Given the description of an element on the screen output the (x, y) to click on. 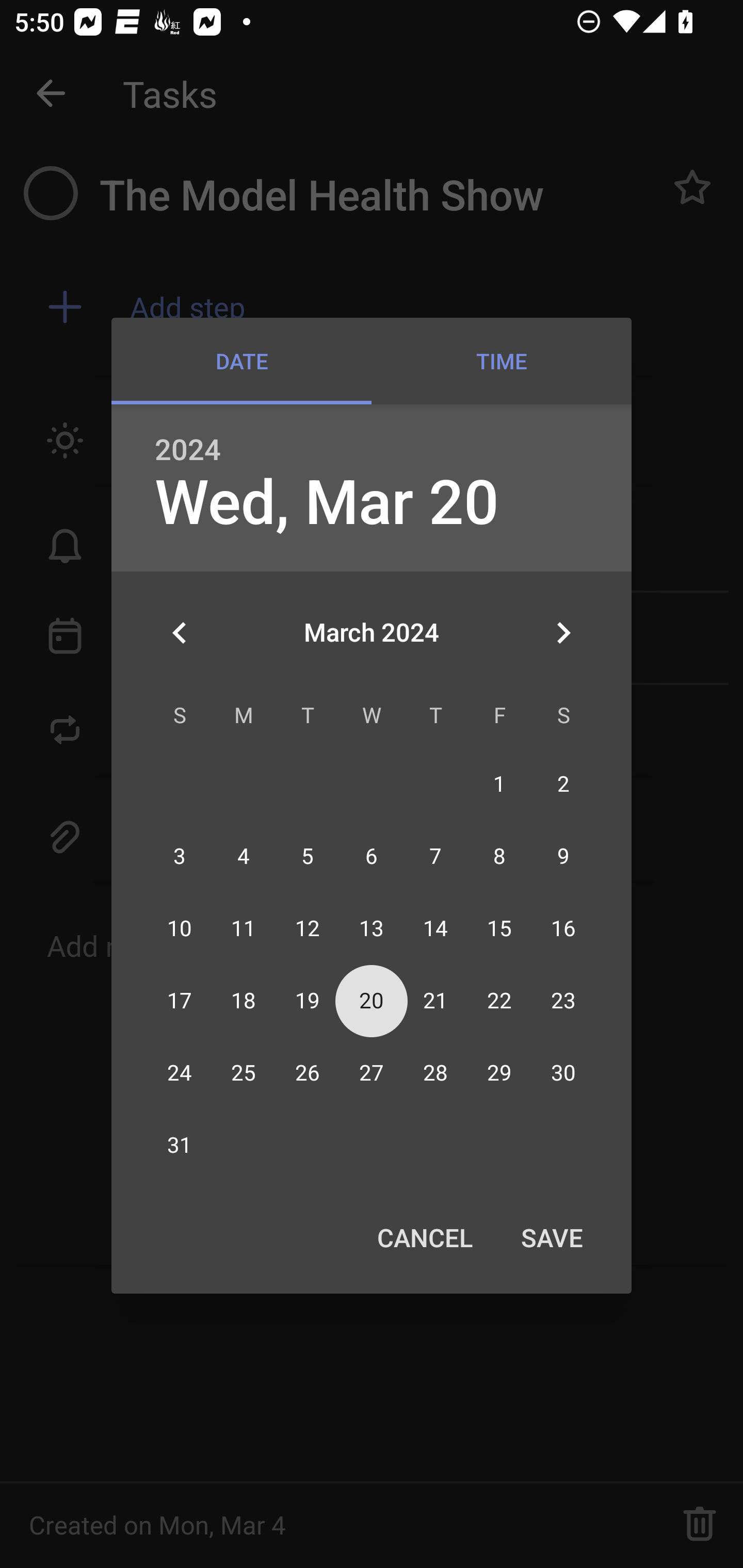
Date DATE (241, 361)
Time TIME (501, 361)
2024 (187, 449)
Wed, Mar 20 (326, 503)
Previous month (178, 632)
Next month (563, 632)
1 01 March 2024 (499, 783)
2 02 March 2024 (563, 783)
3 03 March 2024 (179, 856)
4 04 March 2024 (243, 856)
5 05 March 2024 (307, 856)
6 06 March 2024 (371, 856)
7 07 March 2024 (435, 856)
8 08 March 2024 (499, 856)
9 09 March 2024 (563, 856)
10 10 March 2024 (179, 928)
11 11 March 2024 (243, 928)
12 12 March 2024 (307, 928)
13 13 March 2024 (371, 928)
14 14 March 2024 (435, 928)
15 15 March 2024 (499, 928)
16 16 March 2024 (563, 928)
17 17 March 2024 (179, 1001)
18 18 March 2024 (243, 1001)
19 19 March 2024 (307, 1001)
20 20 March 2024 (371, 1001)
21 21 March 2024 (435, 1001)
22 22 March 2024 (499, 1001)
23 23 March 2024 (563, 1001)
24 24 March 2024 (179, 1074)
25 25 March 2024 (243, 1074)
26 26 March 2024 (307, 1074)
27 27 March 2024 (371, 1074)
28 28 March 2024 (435, 1074)
29 29 March 2024 (499, 1074)
30 30 March 2024 (563, 1074)
31 31 March 2024 (179, 1146)
CANCEL (424, 1236)
SAVE (552, 1236)
